Given the description of an element on the screen output the (x, y) to click on. 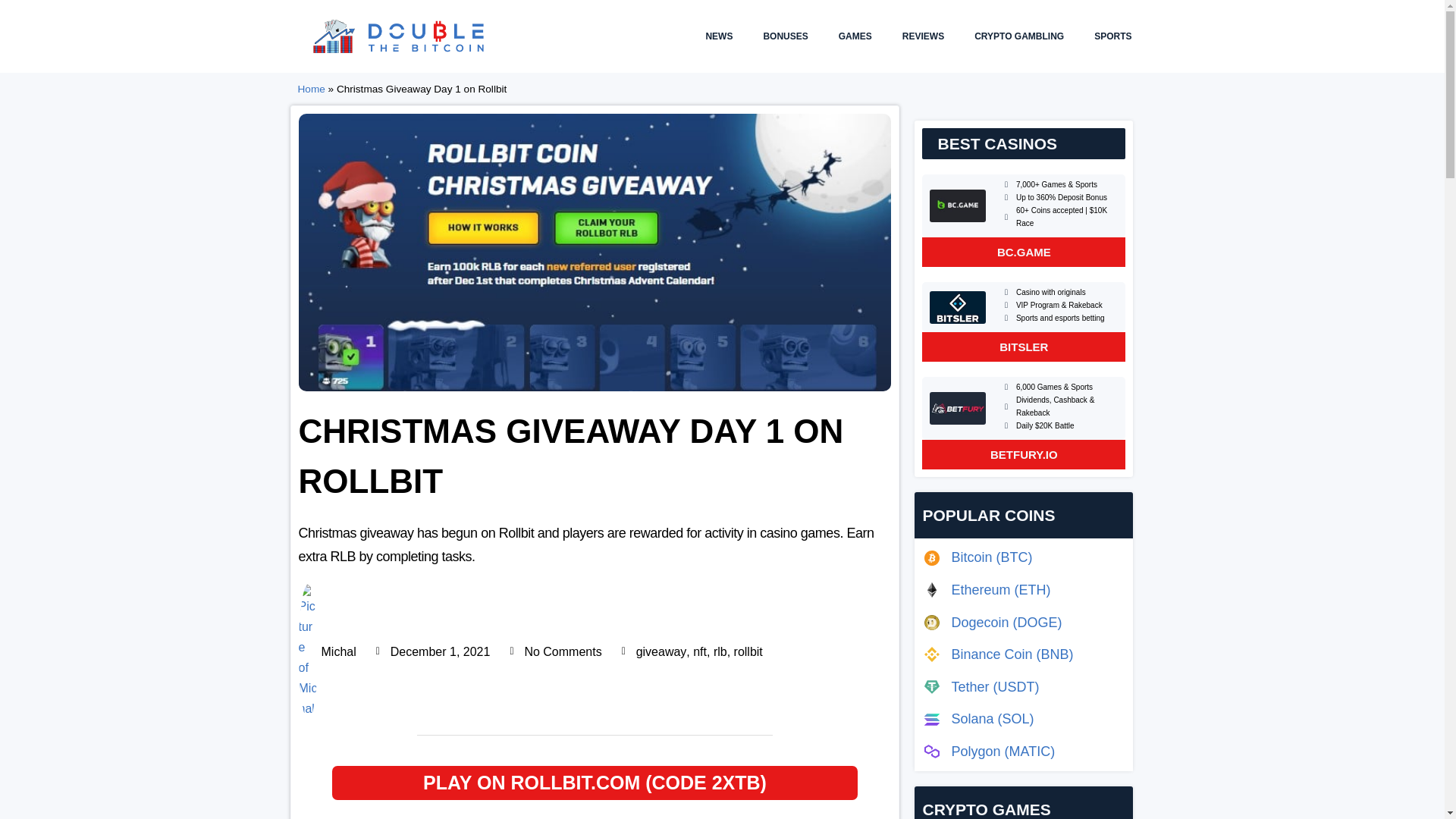
Skip to content (11, 31)
REVIEWS (922, 36)
NEWS (719, 36)
GAMES (855, 36)
BONUSES (785, 36)
